Given the description of an element on the screen output the (x, y) to click on. 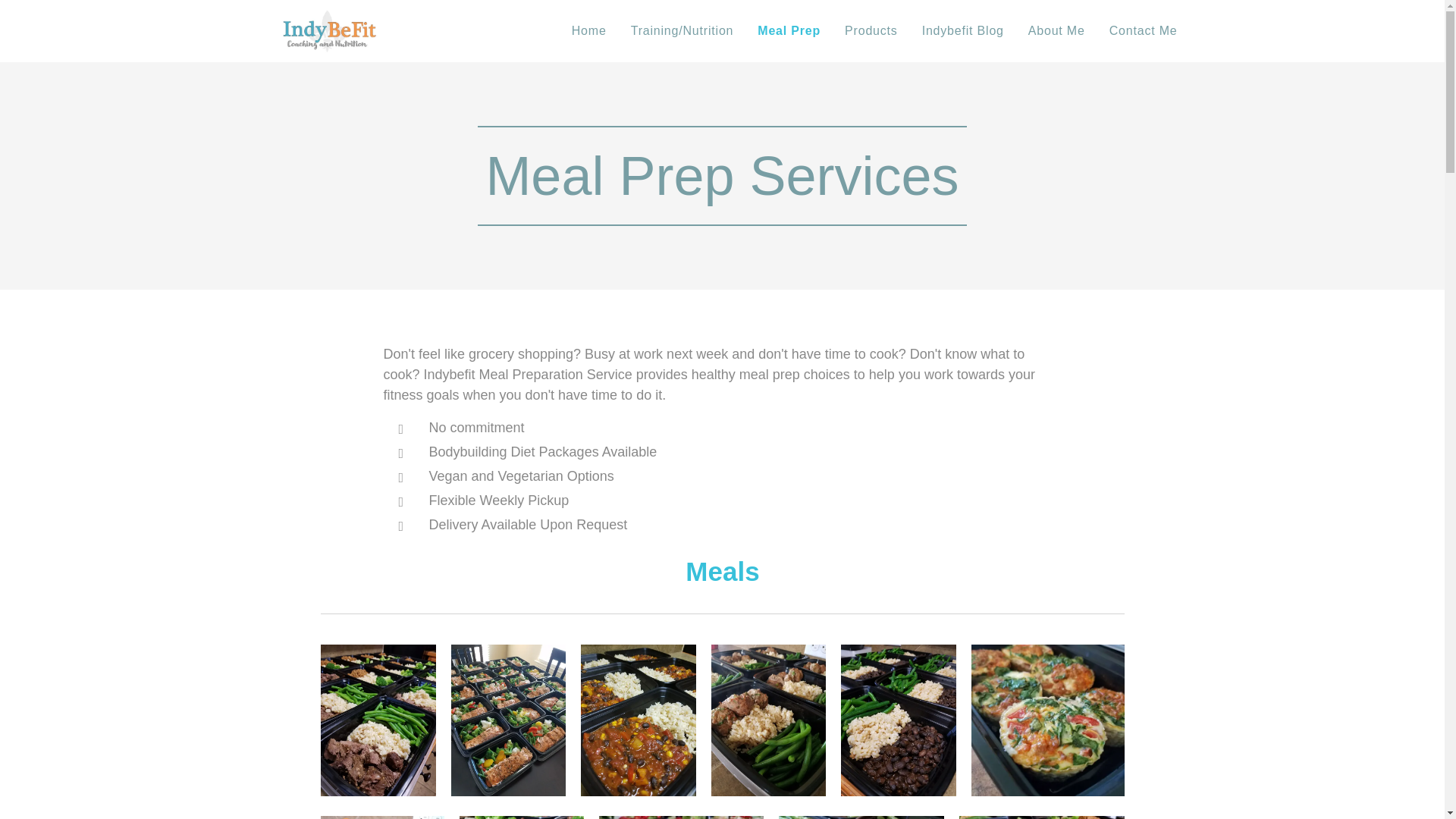
Meal Prep (788, 30)
About Me (1056, 30)
Products (871, 30)
Indybefit Blog (963, 30)
Contact Me (1137, 30)
Home (592, 30)
